Given the description of an element on the screen output the (x, y) to click on. 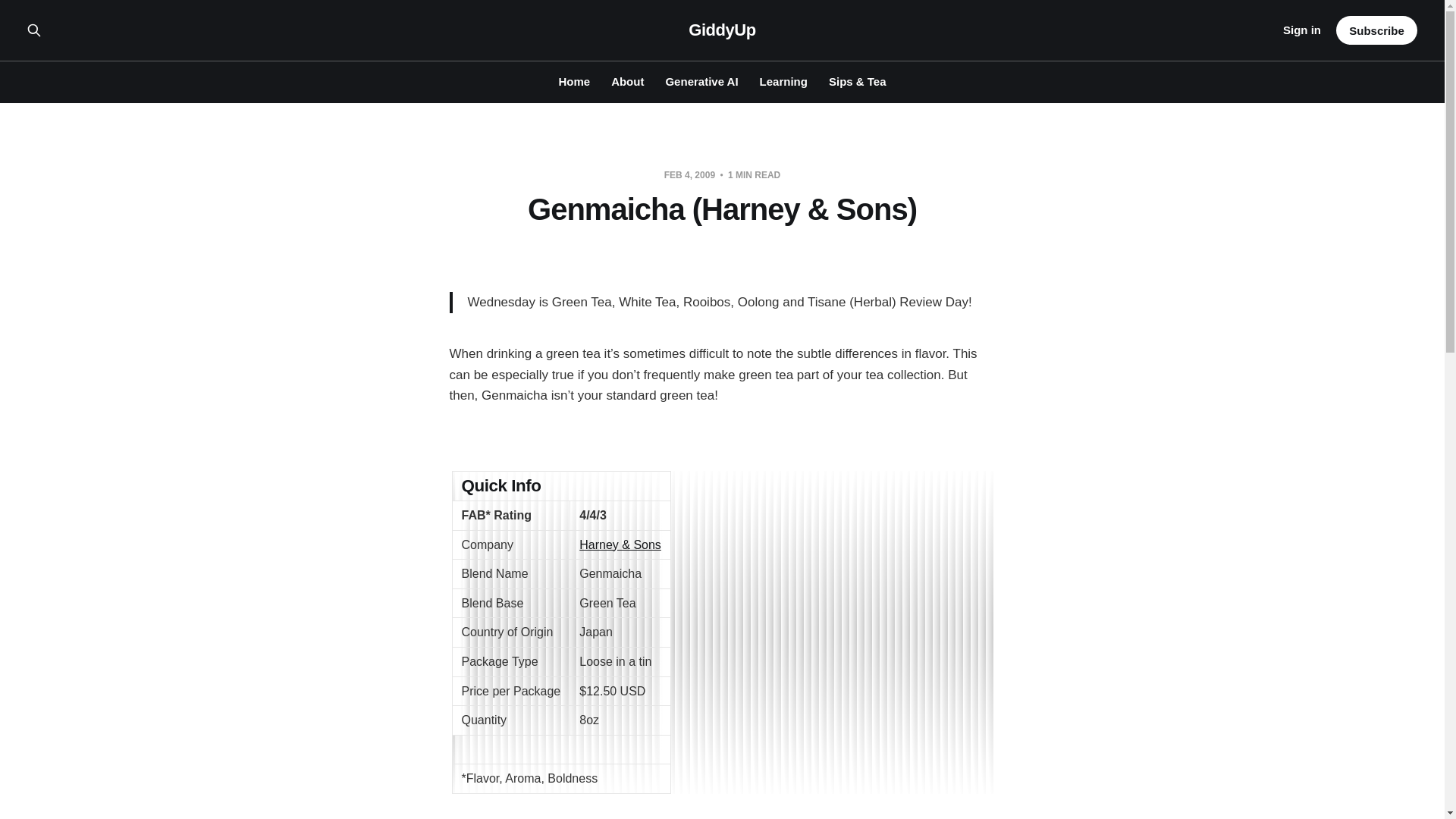
About (627, 81)
GiddyUp (721, 30)
Sign in (1301, 30)
Subscribe (1376, 30)
Generative AI (701, 81)
Home (573, 81)
Learning (784, 81)
